Given the description of an element on the screen output the (x, y) to click on. 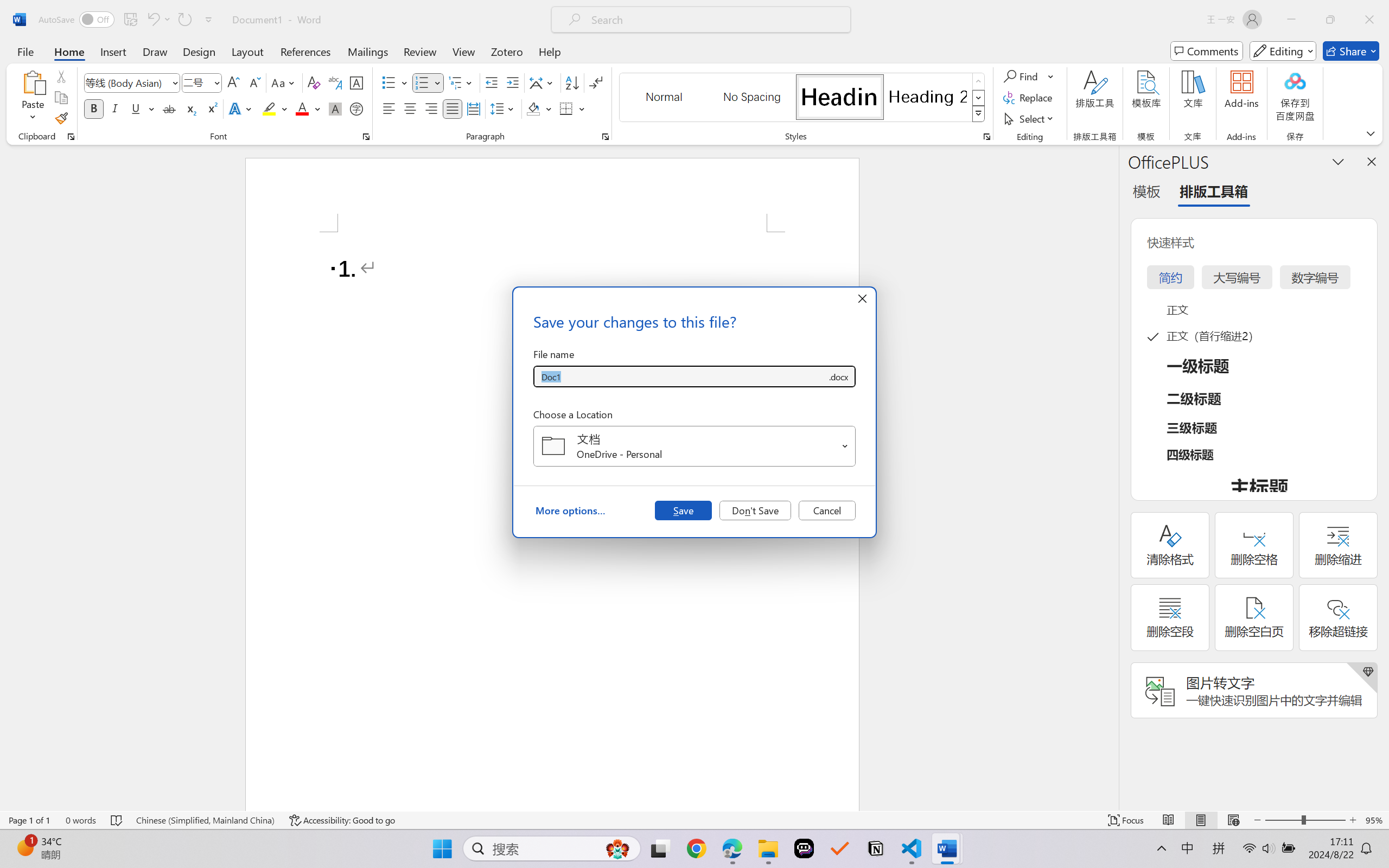
File name (680, 376)
